Given the description of an element on the screen output the (x, y) to click on. 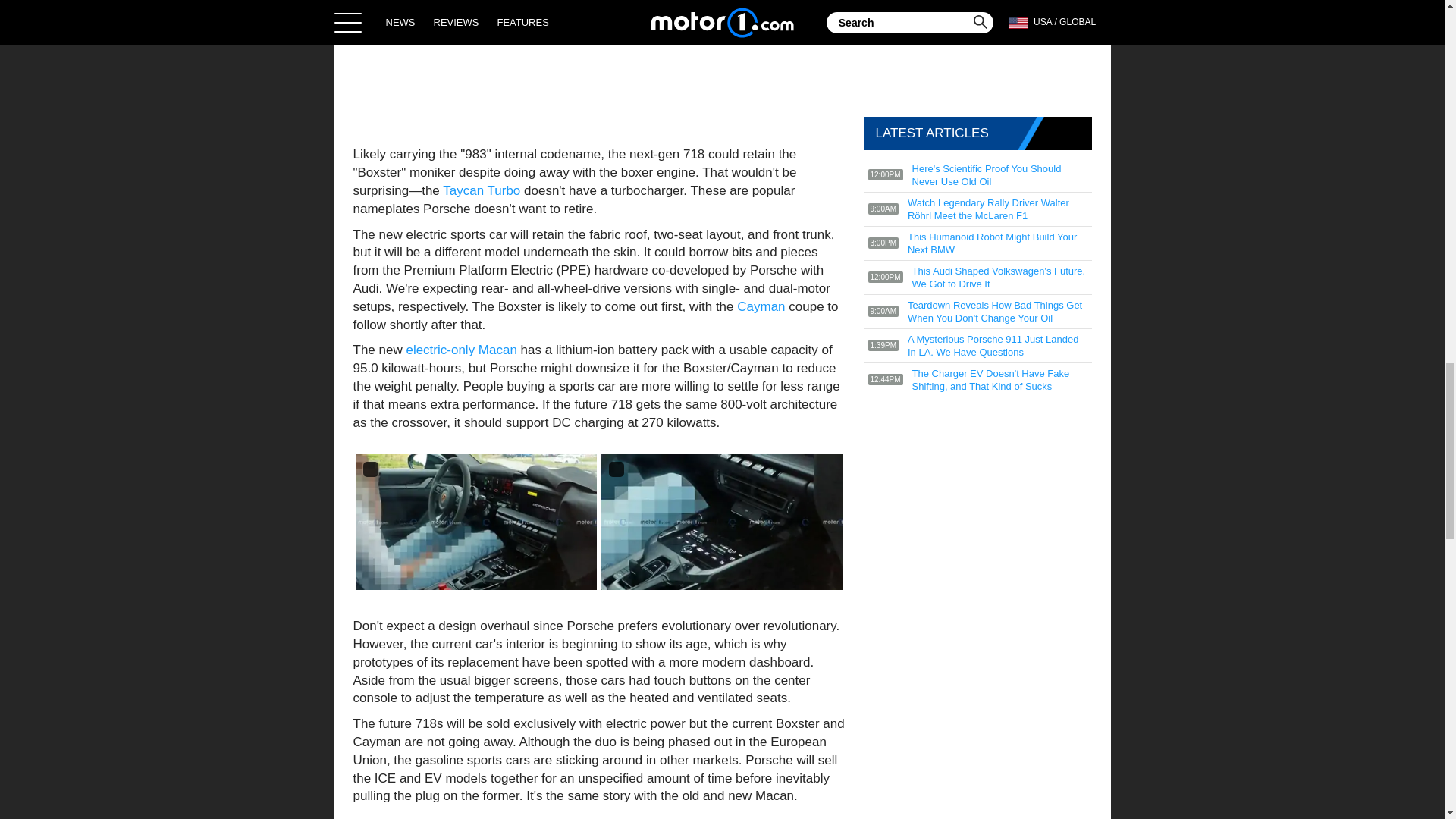
Taycan Turbo (480, 190)
Cayman (762, 306)
electric-only Macan (461, 350)
